Given the description of an element on the screen output the (x, y) to click on. 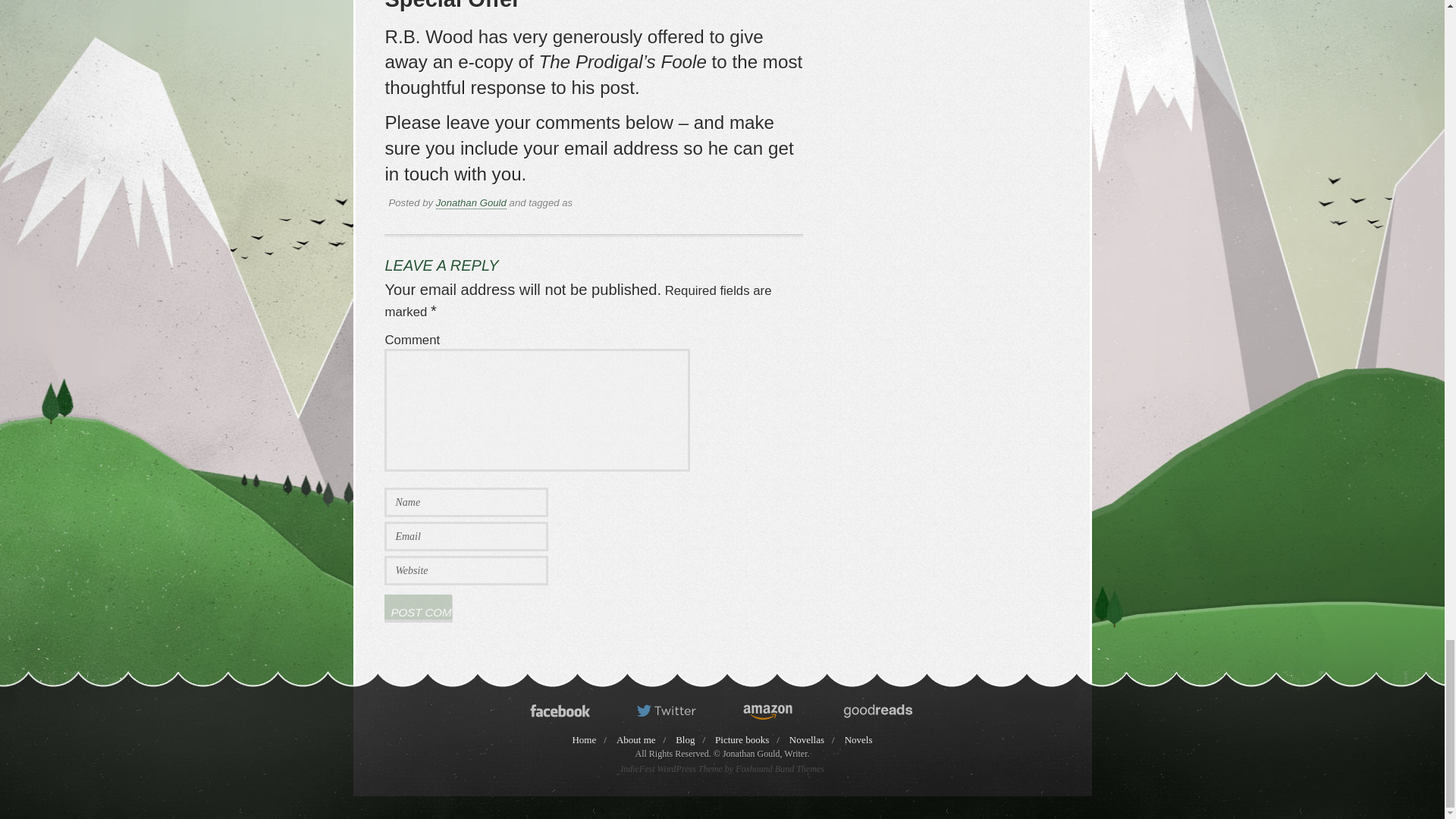
Email (466, 536)
Website (466, 570)
Name (466, 501)
Post Comment (417, 606)
Jonathan Gould (470, 203)
Post Comment (417, 606)
Posts by Jonathan Gould (470, 203)
